Given the description of an element on the screen output the (x, y) to click on. 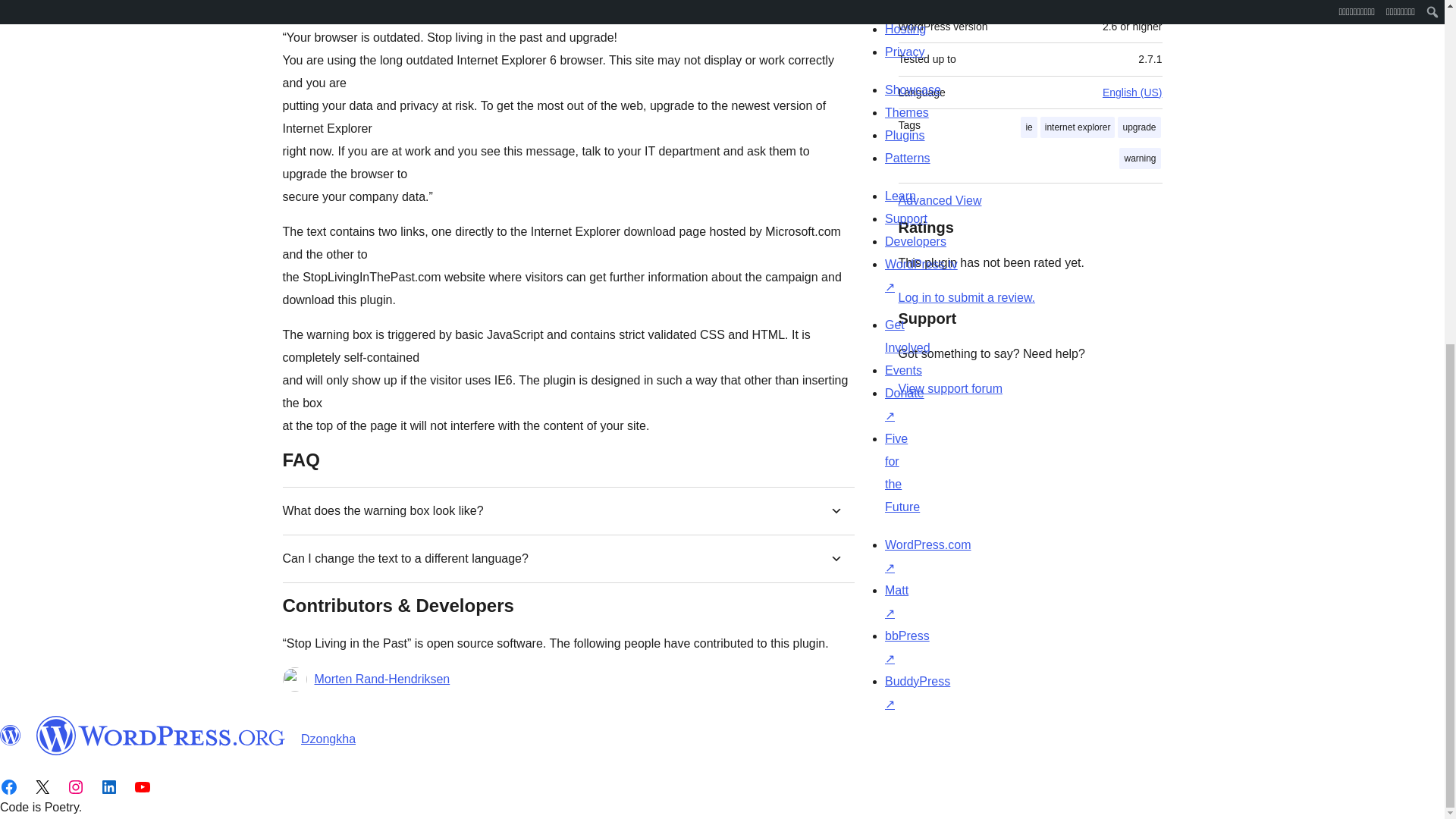
Morten Rand-Hendriksen (381, 679)
WordPress.org (160, 735)
WordPress.org (10, 735)
Log in to WordPress.org (966, 297)
